Given the description of an element on the screen output the (x, y) to click on. 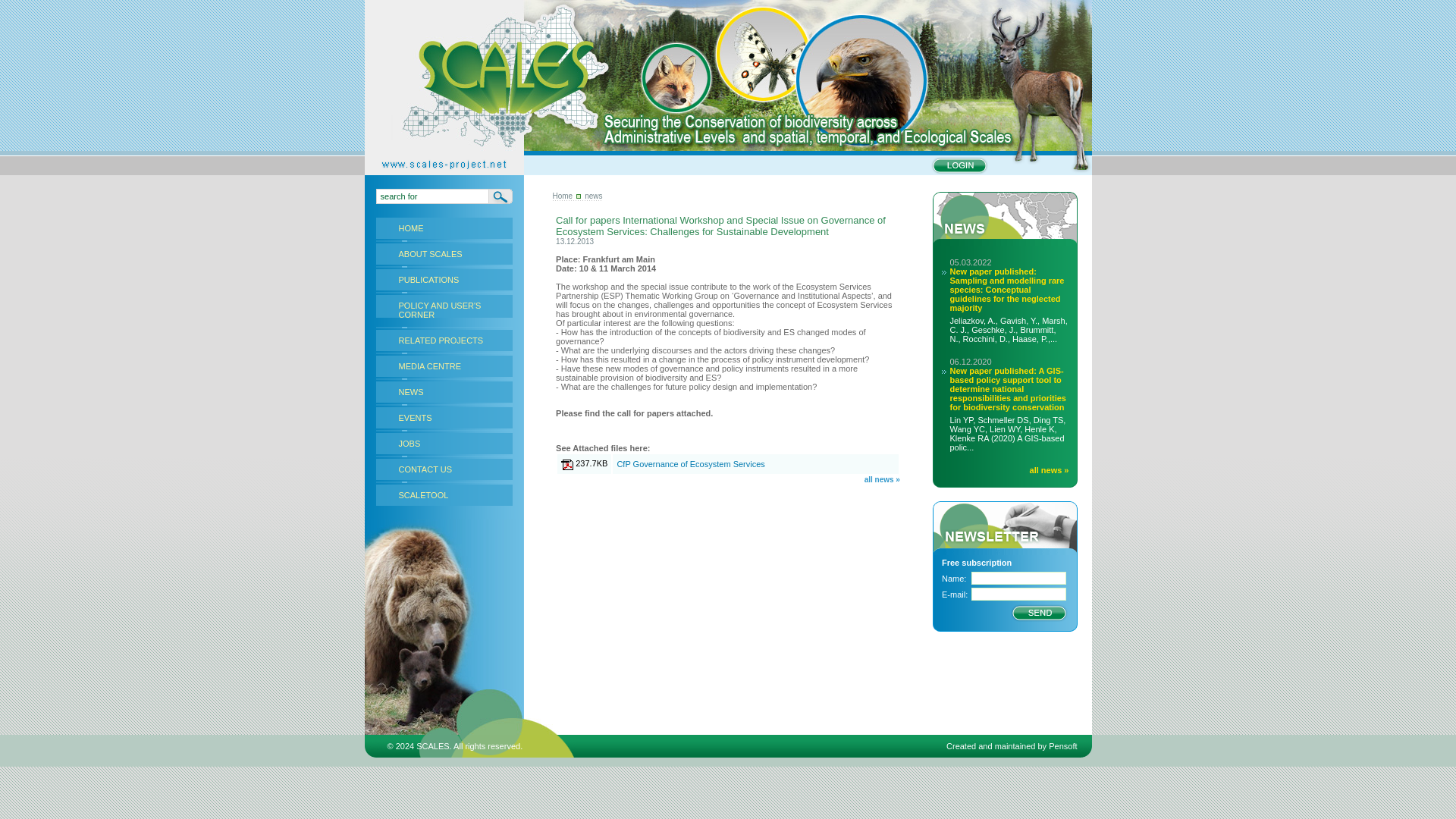
POLICY AND USER'S CORNER (443, 309)
Pensoft (1062, 746)
SCALETOOL (443, 495)
MEDIA CENTRE (443, 365)
NEWS (443, 391)
CfP Governance of Ecosystem Services (689, 463)
Home (561, 195)
EVENTS (443, 417)
